Given the description of an element on the screen output the (x, y) to click on. 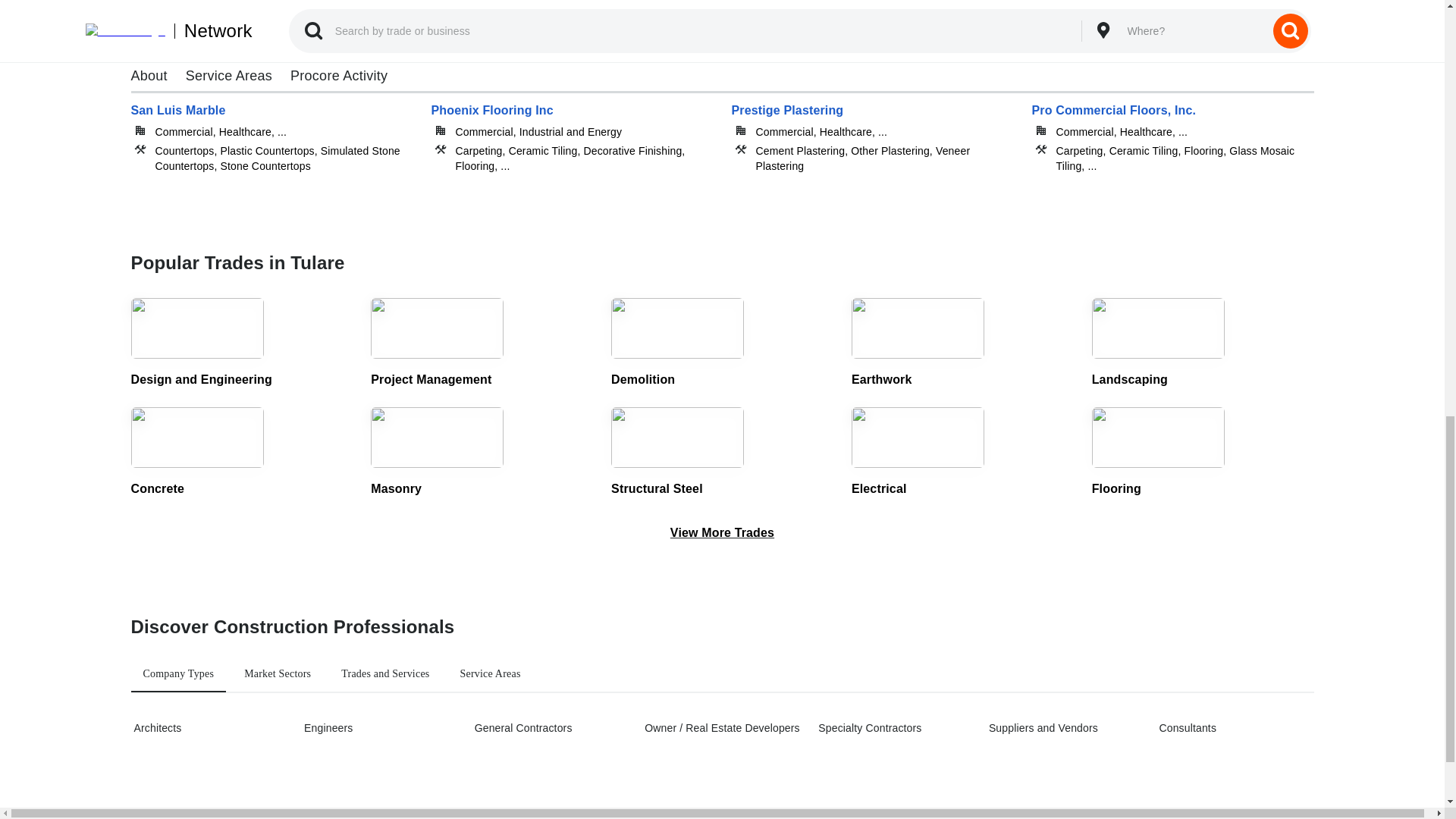
Trades and Services (385, 674)
Electrical (962, 452)
Masonry (481, 452)
Prestige Plastering (871, 125)
Engineers (379, 727)
Market Sectors (277, 674)
Pro Commercial Floors, Inc. (1171, 125)
Specialty Contractors (893, 727)
General Contractors (550, 727)
Phoenix Flooring Inc (571, 125)
Flooring (1203, 452)
Structural Steel (721, 452)
Service Areas (489, 674)
Landscaping (1203, 343)
